Given the description of an element on the screen output the (x, y) to click on. 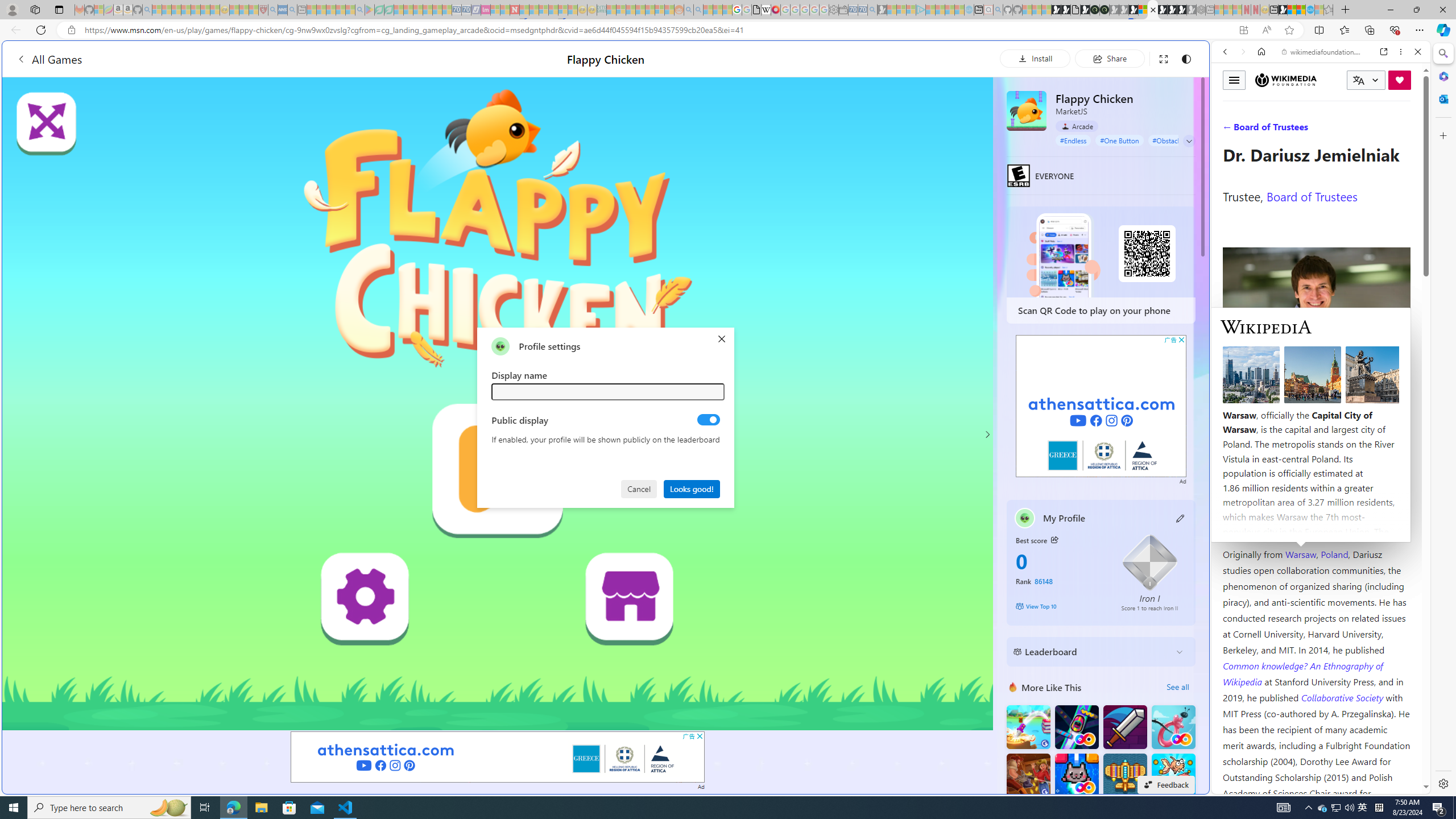
""'s avatar (500, 345)
Atlantic Sky Hunter (1124, 775)
Microsoft account | Privacy - Sleeping (910, 9)
New Tab (1346, 9)
Earth has six continents not seven, radical new study claims (1300, 9)
Services - Maintenance | Sky Blue Bikes - Sky Blue Bikes (1309, 9)
NCL Adult Asthma Inhaler Choice Guideline - Sleeping (282, 9)
Frequently visited (965, 151)
Robert H. Shmerling, MD - Harvard Health - Sleeping (263, 9)
Search Filter, WEB (1230, 129)
google_privacy_policy_zh-CN.pdf (755, 9)
MSN (1283, 9)
